Given the description of an element on the screen output the (x, y) to click on. 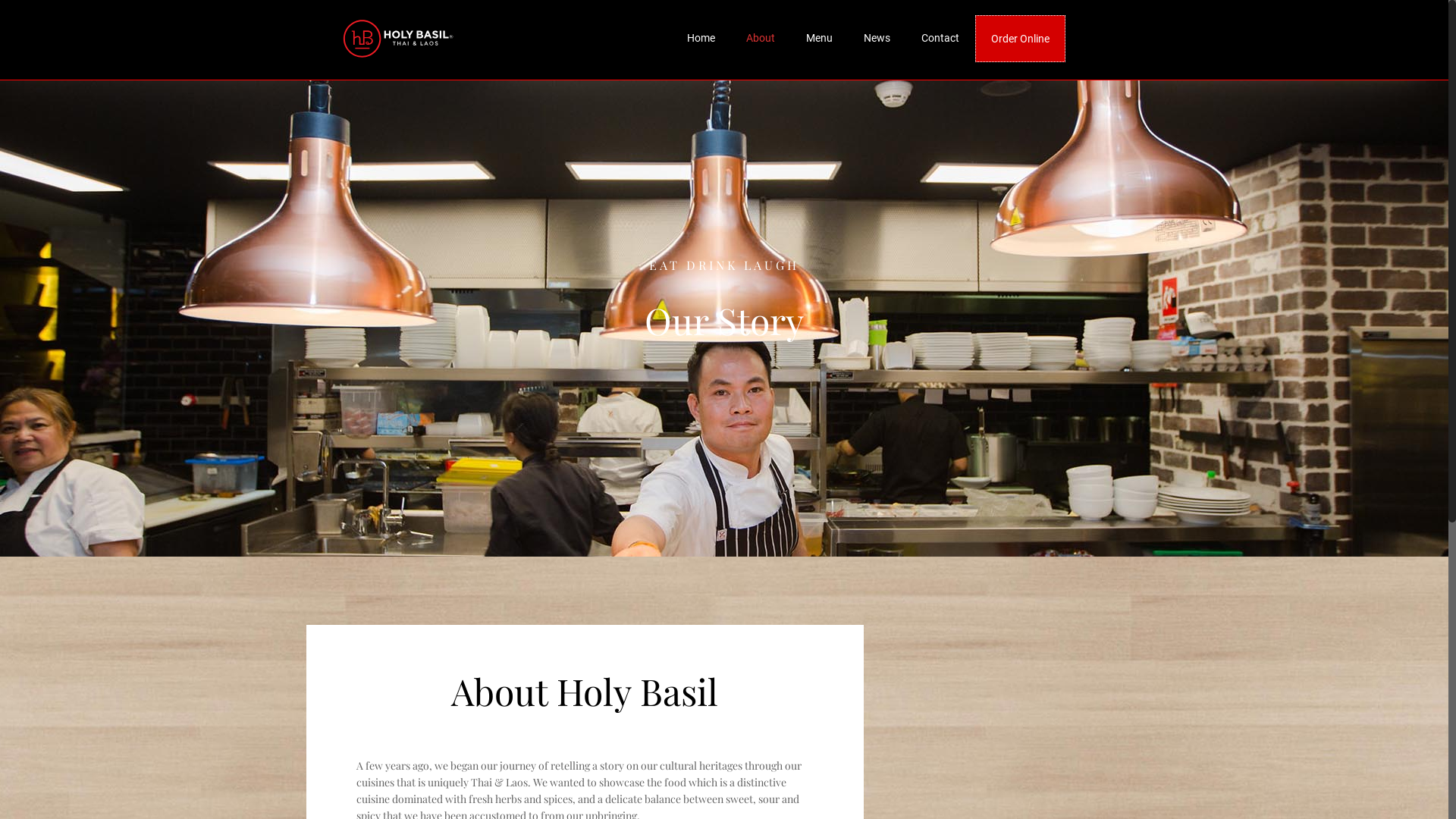
Order Online Element type: text (1020, 38)
Holy Basil Element type: hover (397, 37)
Contact Element type: text (940, 37)
Menu Element type: text (819, 37)
Home Element type: text (701, 37)
About Element type: text (760, 37)
News Element type: text (877, 37)
